Given the description of an element on the screen output the (x, y) to click on. 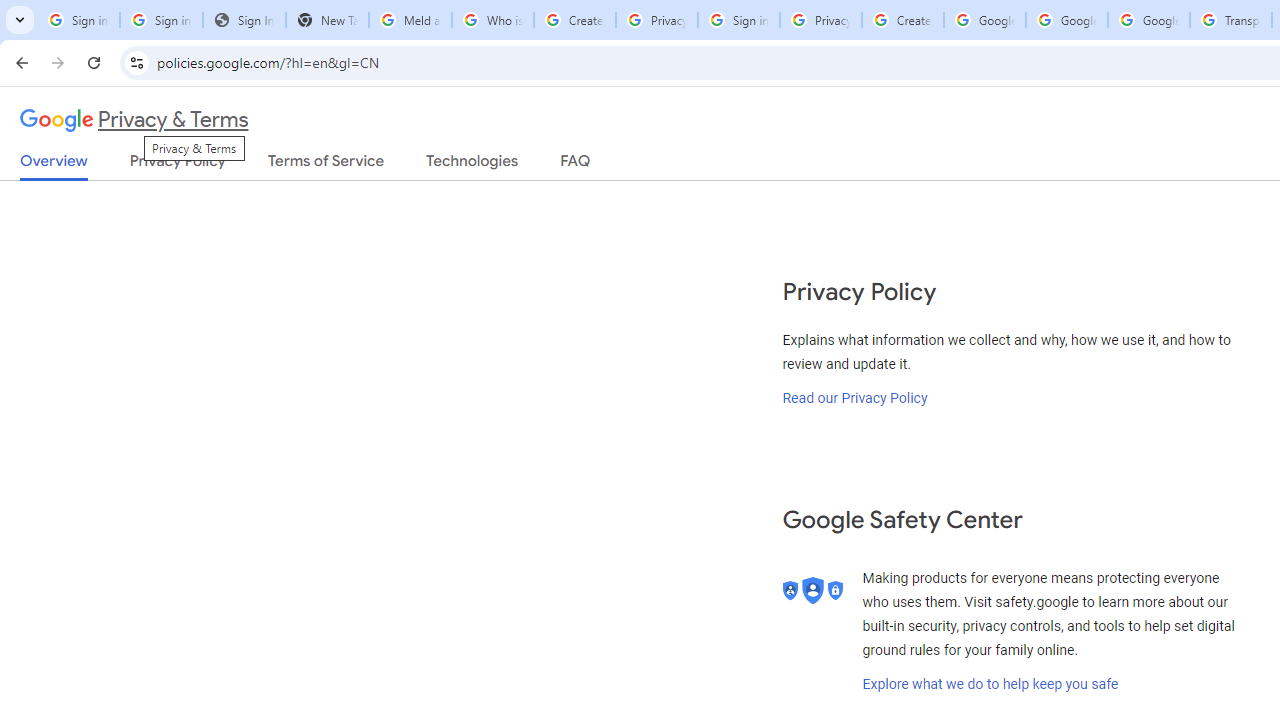
Read our Privacy Policy (855, 397)
Sign in - Google Accounts (78, 20)
Search tabs (20, 20)
Reload (93, 62)
FAQ (575, 165)
System (10, 11)
Who is my administrator? - Google Account Help (492, 20)
Explore what we do to help keep you safe (989, 683)
Terms of Service (326, 165)
Sign in - Google Accounts (738, 20)
Sign In - USA TODAY (244, 20)
